Given the description of an element on the screen output the (x, y) to click on. 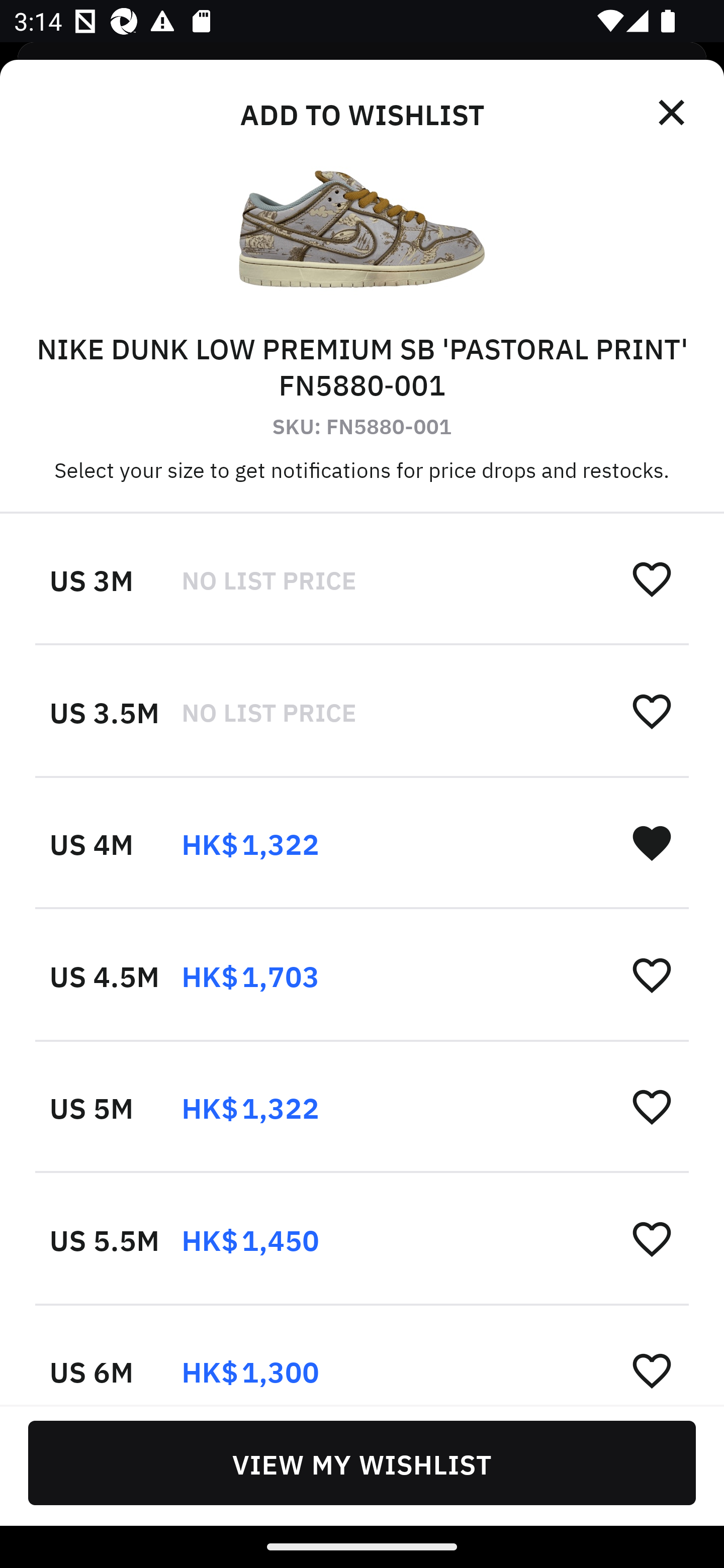
 (672, 112)
󰋕 (651, 578)
󰋕 (651, 710)
󰋑 (651, 842)
󰋕 (651, 974)
󰋕 (651, 1105)
󰋕 (651, 1237)
󰋕 (651, 1369)
VIEW MY WISHLIST (361, 1462)
